Given the description of an element on the screen output the (x, y) to click on. 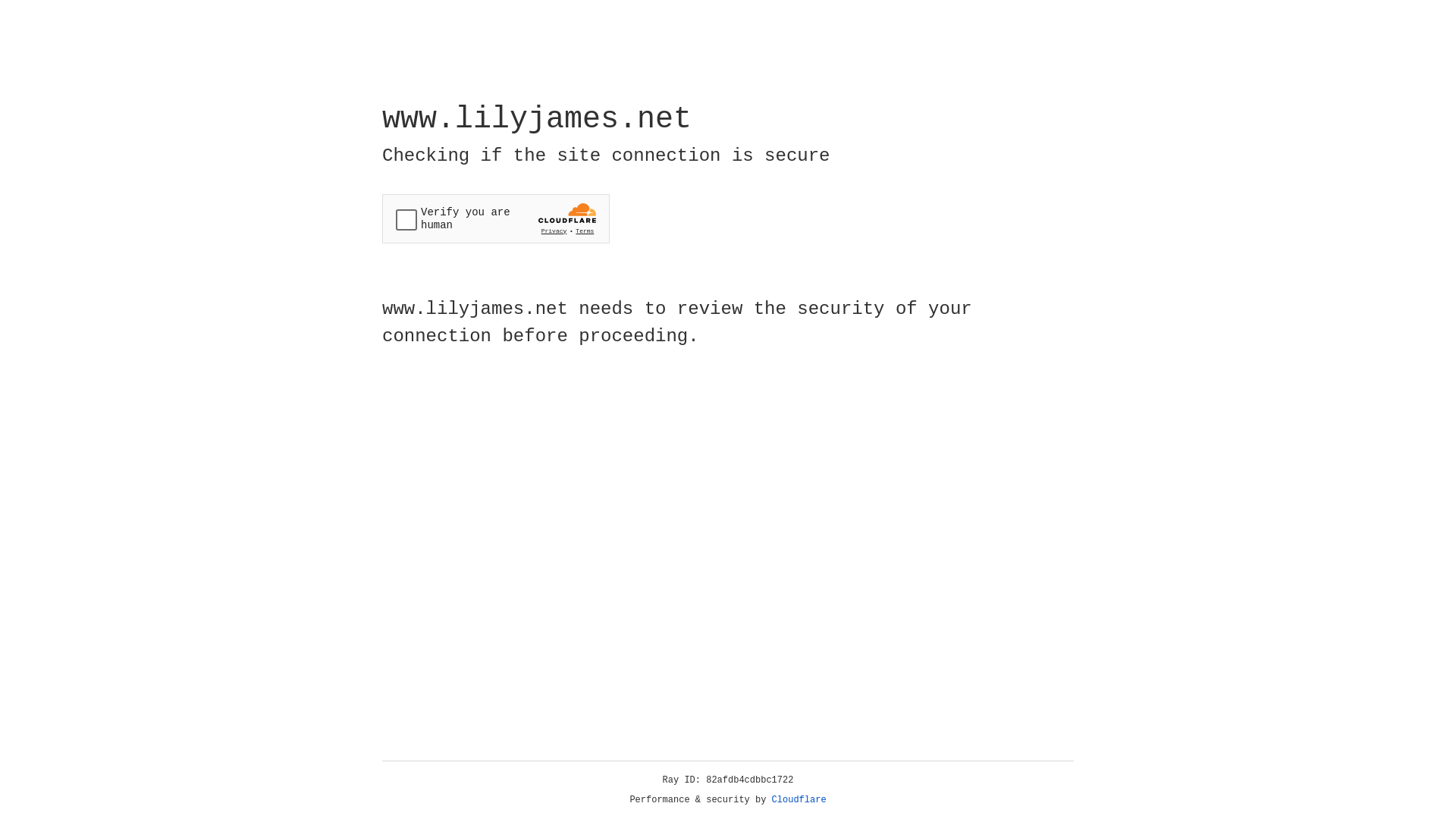
Cloudflare Element type: text (798, 799)
Widget containing a Cloudflare security challenge Element type: hover (495, 218)
